Given the description of an element on the screen output the (x, y) to click on. 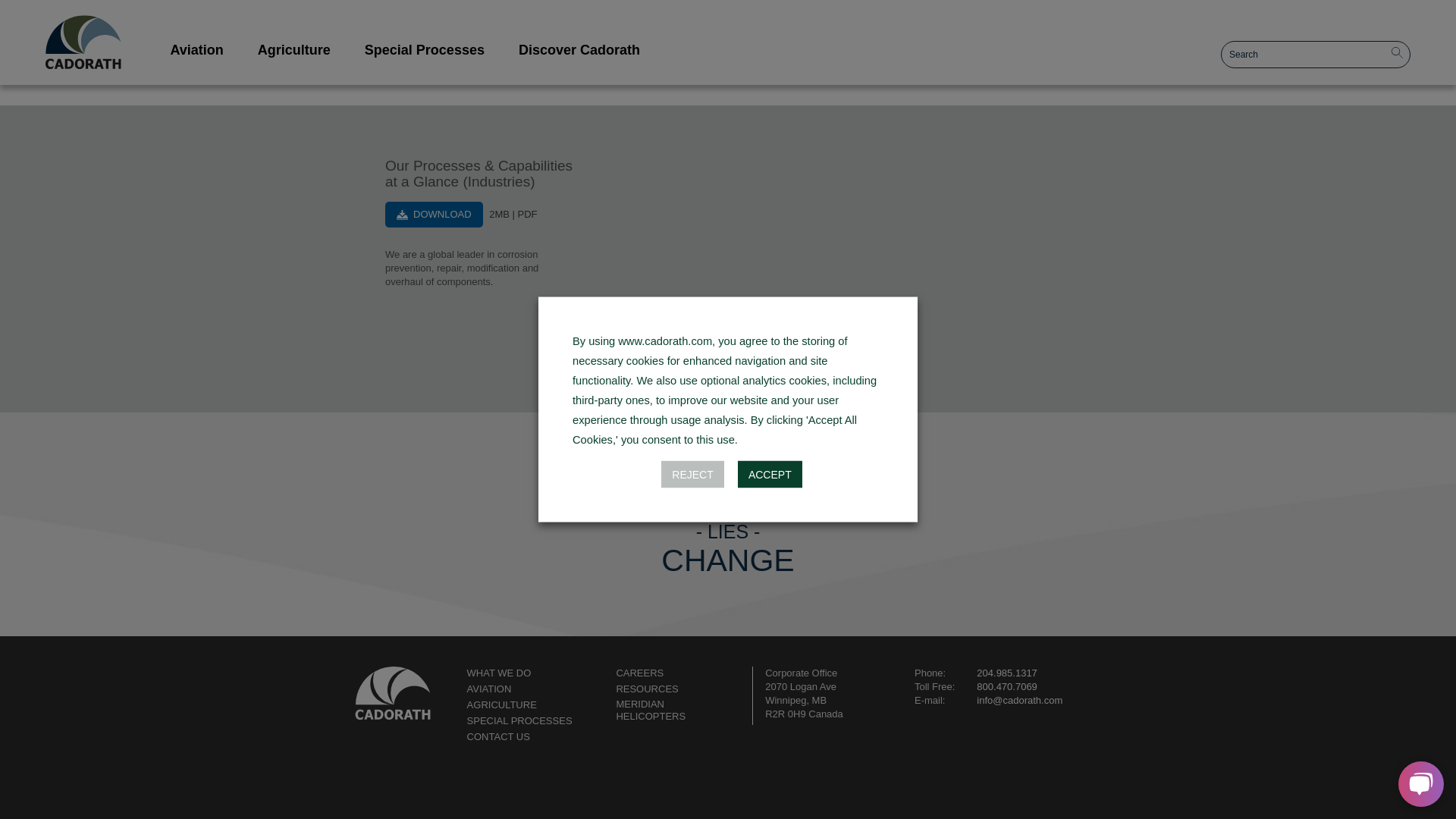
Return to home page (392, 691)
